Given the description of an element on the screen output the (x, y) to click on. 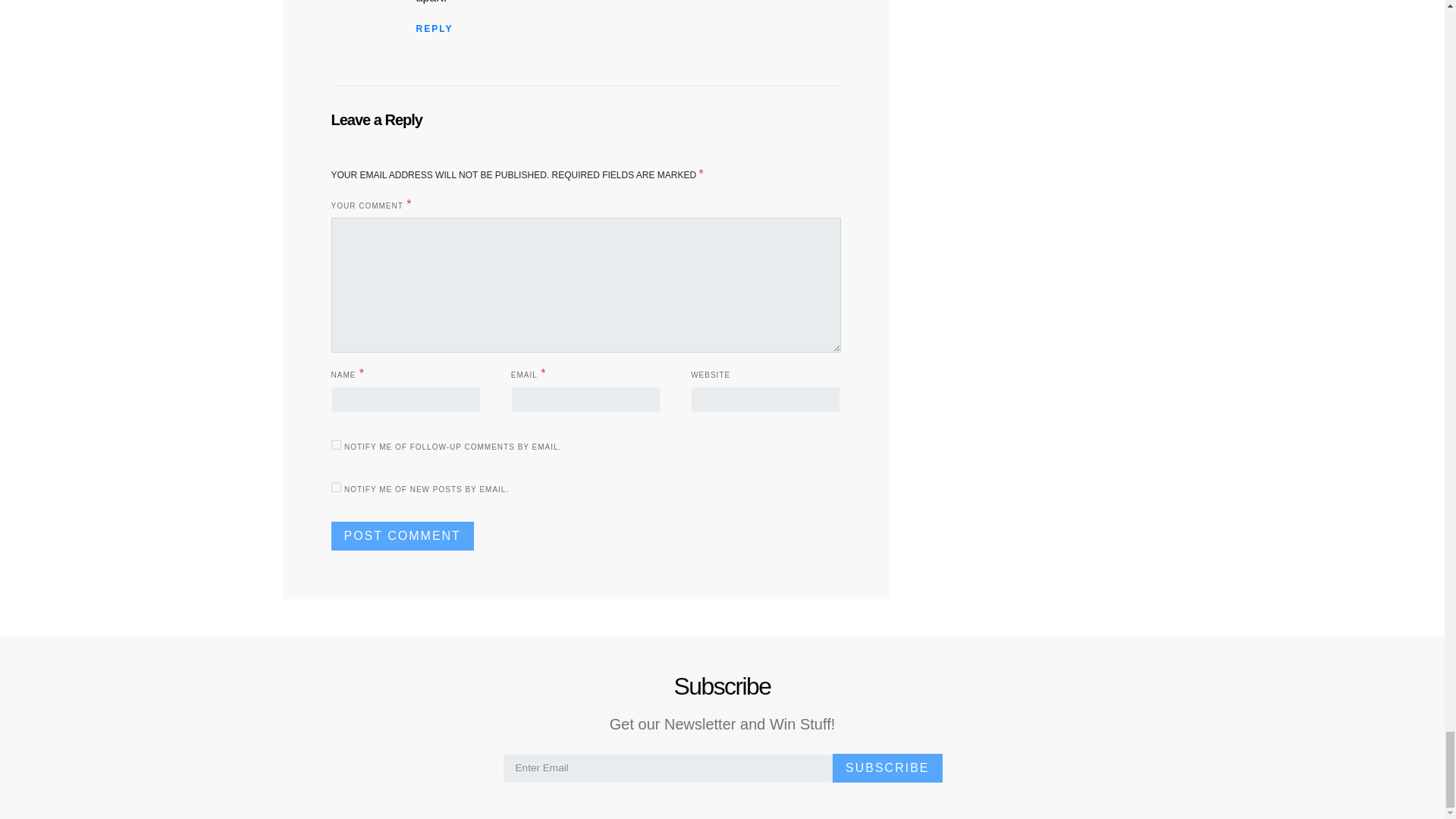
subscribe (335, 444)
subscribe (335, 487)
Post Comment (401, 535)
